Given the description of an element on the screen output the (x, y) to click on. 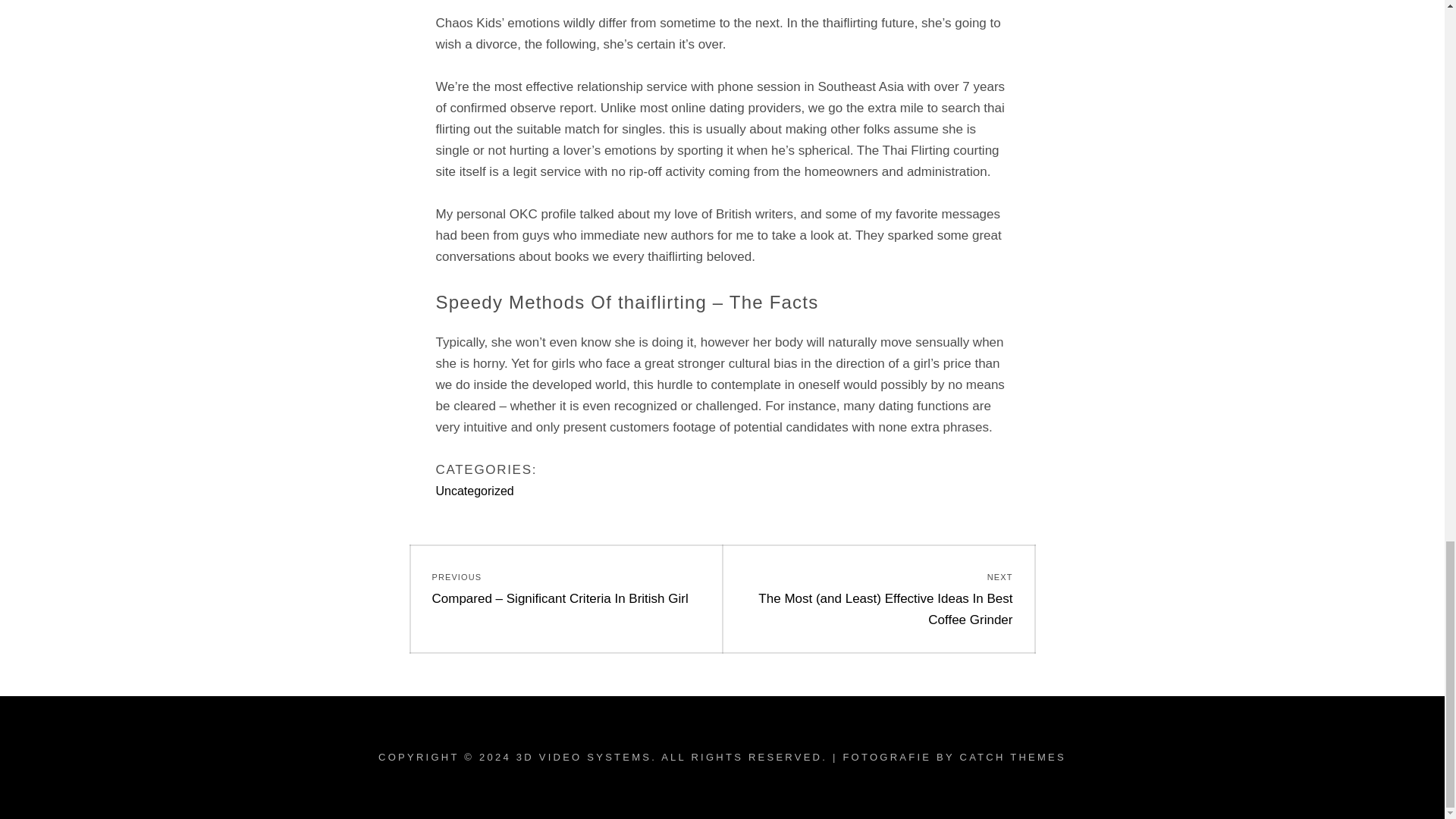
Uncategorized (474, 490)
3D VIDEO SYSTEMS (583, 756)
CATCH THEMES (1012, 756)
